Given the description of an element on the screen output the (x, y) to click on. 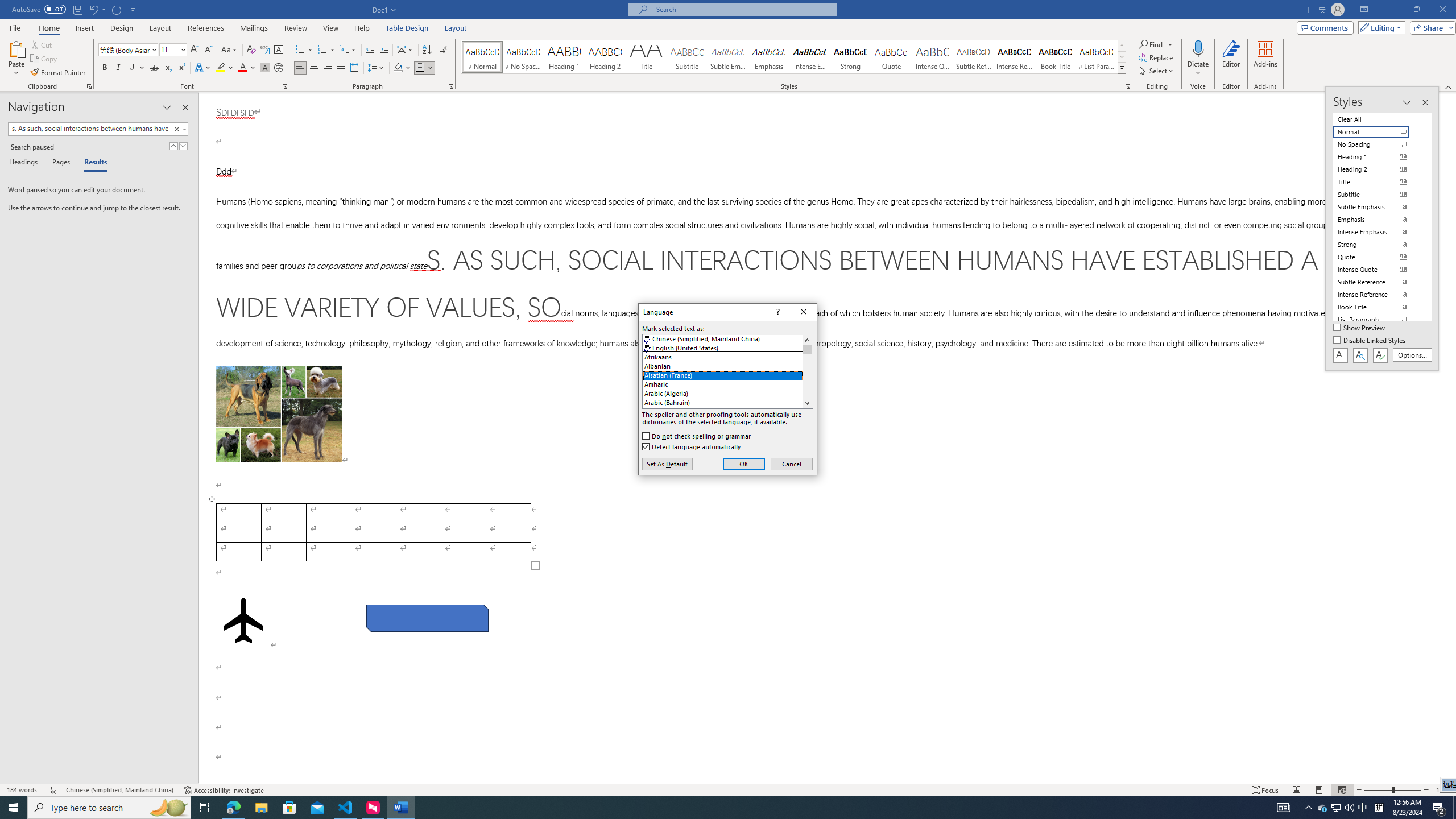
Class: NetUIButton (1380, 355)
Print Layout (1318, 790)
Minimize (1390, 9)
Line and Paragraph Spacing (376, 67)
Microsoft search (742, 9)
Microsoft Store (289, 807)
Clear (178, 128)
Options... (1412, 354)
Word Count 184 words (22, 790)
Context help (777, 312)
Action Center, 2 new notifications (1439, 807)
Subscript (167, 67)
Intense Emphasis (809, 56)
Decrease Indent (370, 49)
Home (48, 28)
